Given the description of an element on the screen output the (x, y) to click on. 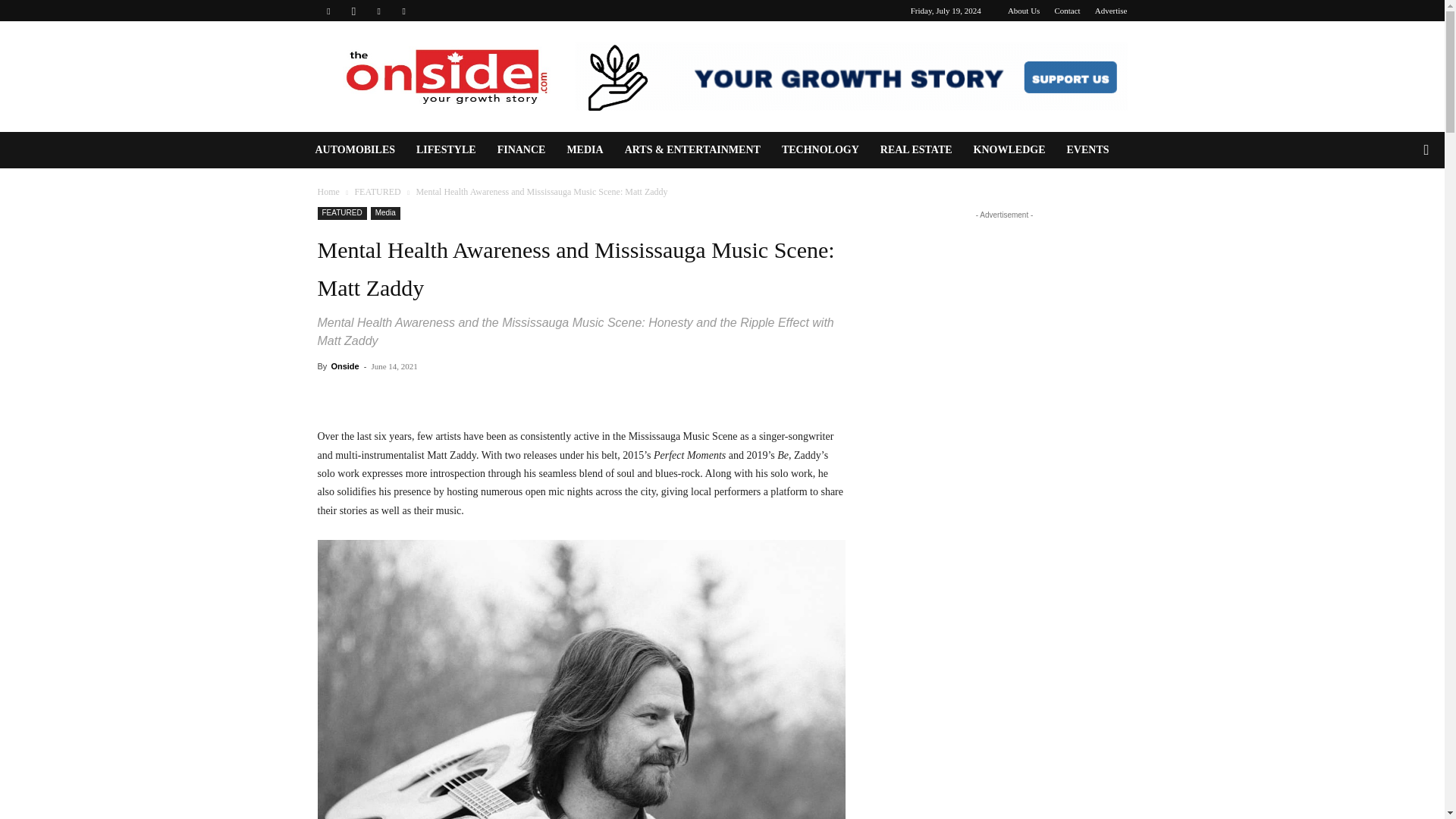
AUTOMOBILES (355, 149)
Contact (1067, 10)
Instagram (353, 10)
MEDIA (584, 149)
View all posts in FEATURED (376, 191)
Advertise (1110, 10)
About Us (1023, 10)
Twitter (403, 10)
Linkedin (379, 10)
www.theonside.com (445, 76)
TECHNOLOGY (820, 149)
EVENTS (1087, 149)
REAL ESTATE (915, 149)
KNOWLEDGE (1009, 149)
Facebook (328, 10)
